Given the description of an element on the screen output the (x, y) to click on. 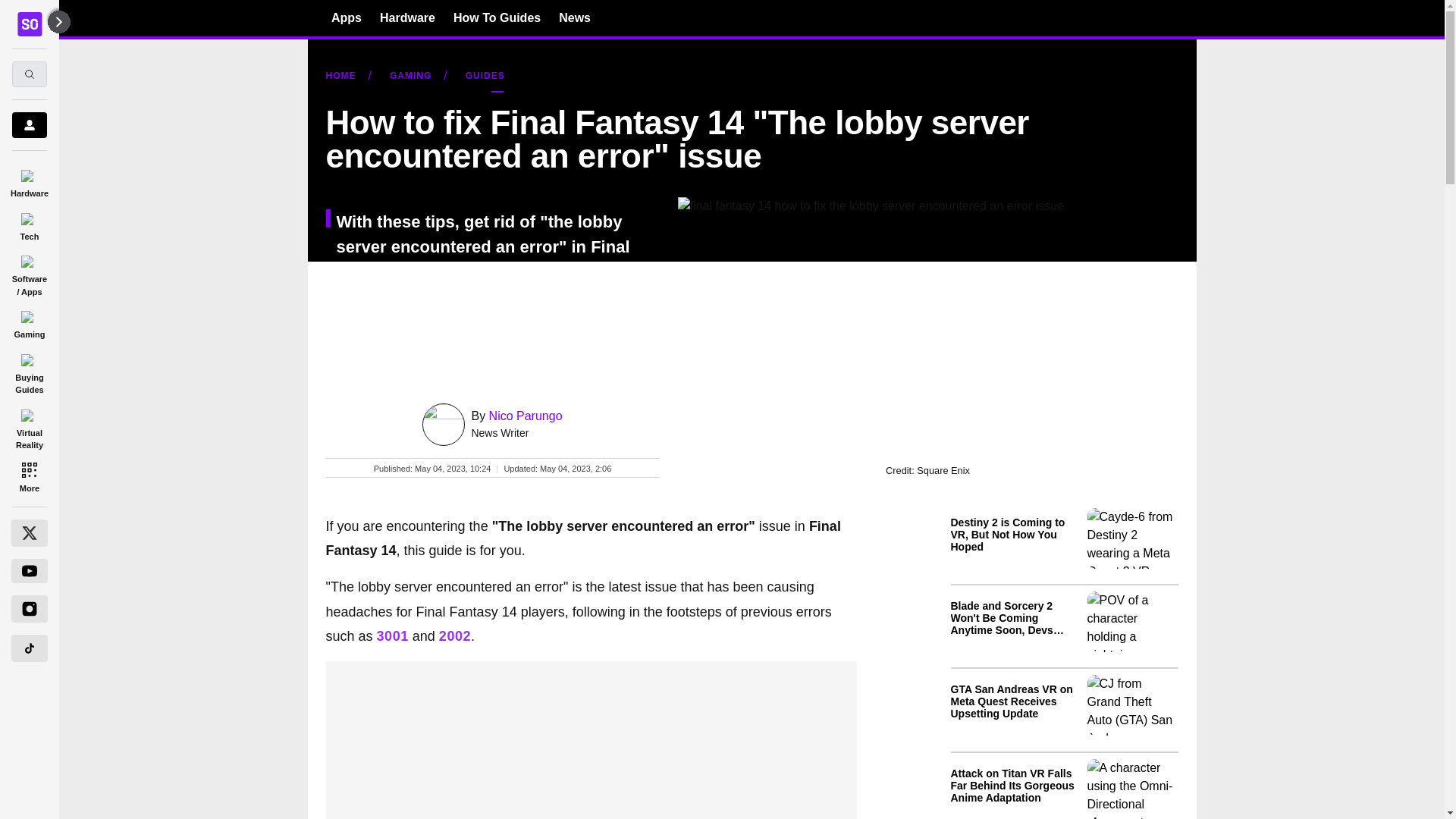
Gaming (28, 322)
Hardware (407, 18)
Tech (28, 224)
Hardware (28, 180)
Apps (346, 18)
News (575, 18)
How To Guides (496, 18)
More (28, 476)
